Given the description of an element on the screen output the (x, y) to click on. 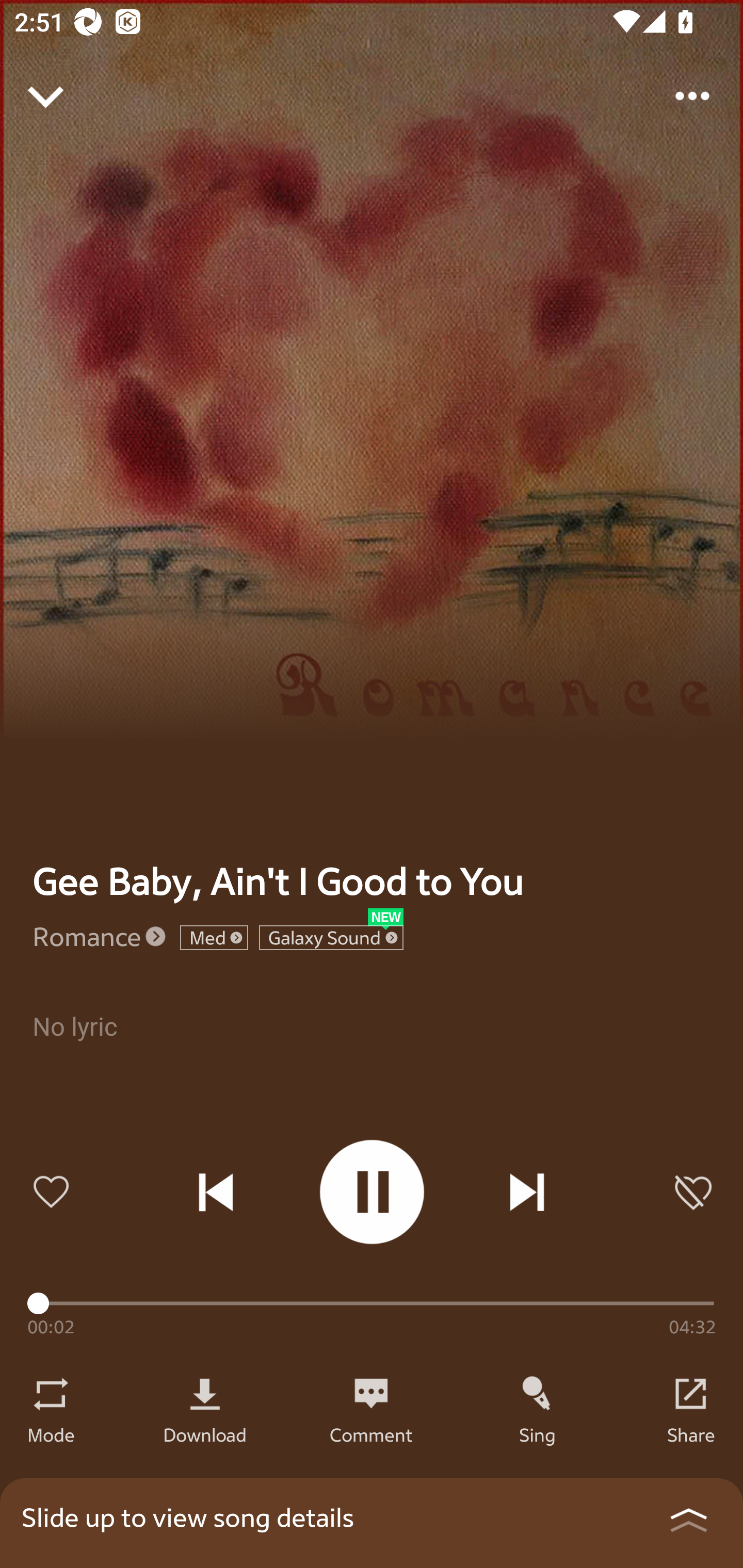
Gee Baby, Ain't I Good to You (277, 881)
Romance (86, 935)
Med (213, 937)
Galaxy Sound (331, 937)
No lyric (371, 1048)
Mode (51, 1434)
Download (204, 1434)
Comment (370, 1434)
Sing (537, 1434)
Share (691, 1434)
Slide up to view song details (371, 1523)
